Given the description of an element on the screen output the (x, y) to click on. 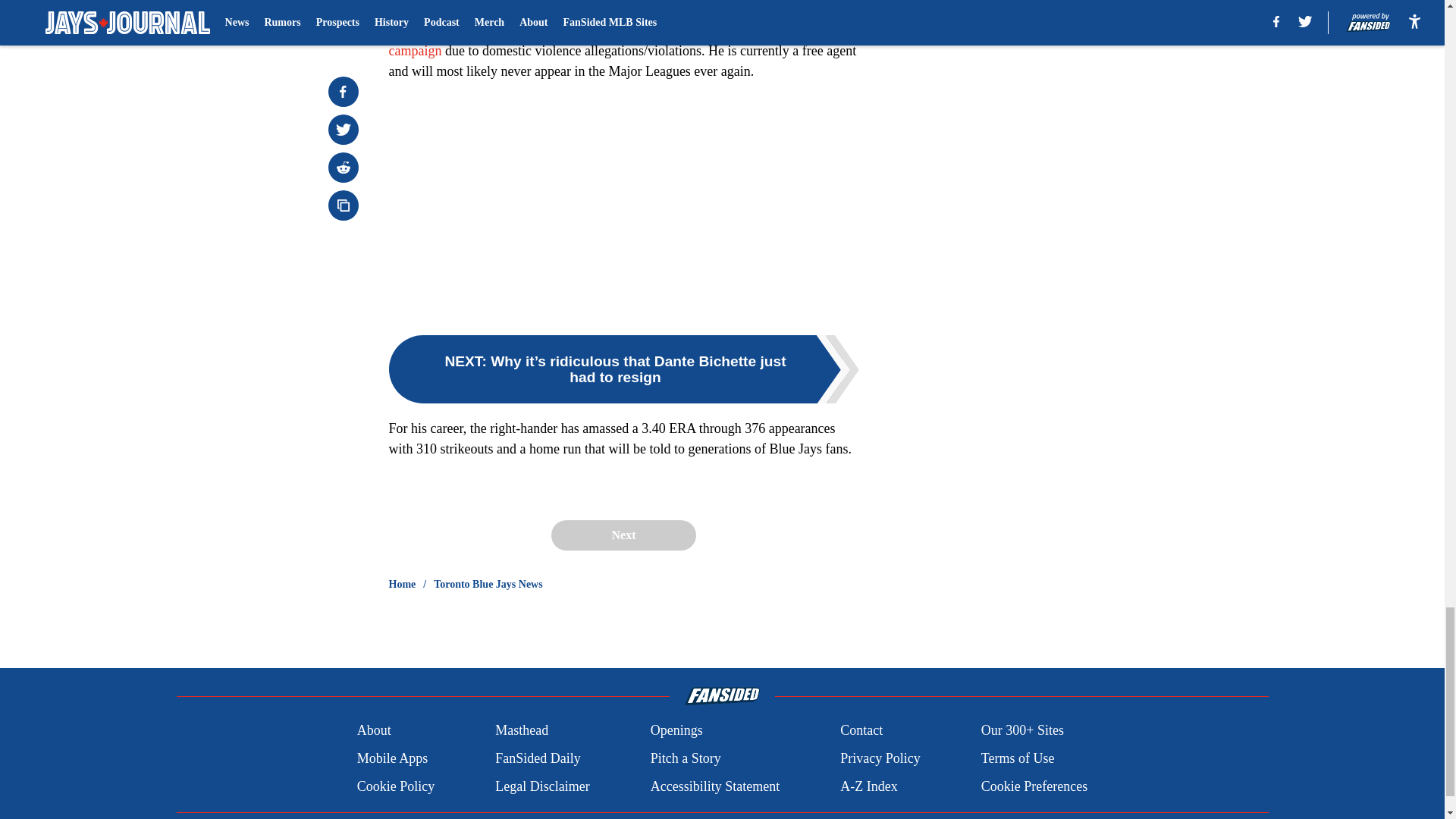
Contact (861, 730)
Next (622, 535)
Mobile Apps (392, 758)
Masthead (521, 730)
Toronto Blue Jays News (488, 584)
Openings (676, 730)
About (373, 730)
Home (401, 584)
suspended for the entire 2021 campaign (611, 40)
